Given the description of an element on the screen output the (x, y) to click on. 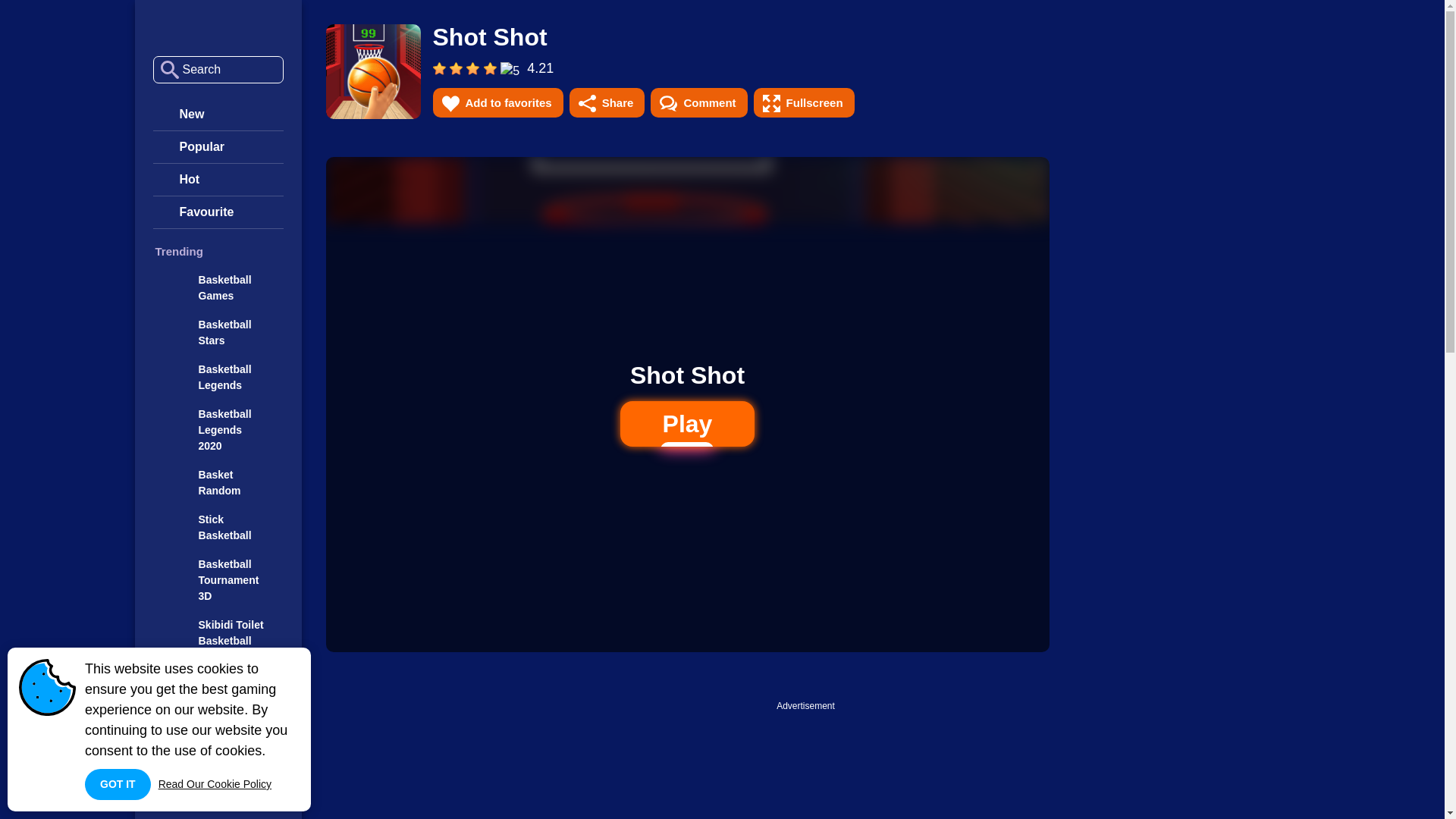
Search (166, 69)
Basketball Games (217, 286)
poor (456, 69)
Play (687, 423)
Add to favorites (497, 102)
Basketball Legends 2020 (217, 430)
Basketball Stars (217, 27)
Basketball Tournament 3D (217, 580)
Basketball Slam Dunk (217, 721)
Comment (698, 102)
